Given the description of an element on the screen output the (x, y) to click on. 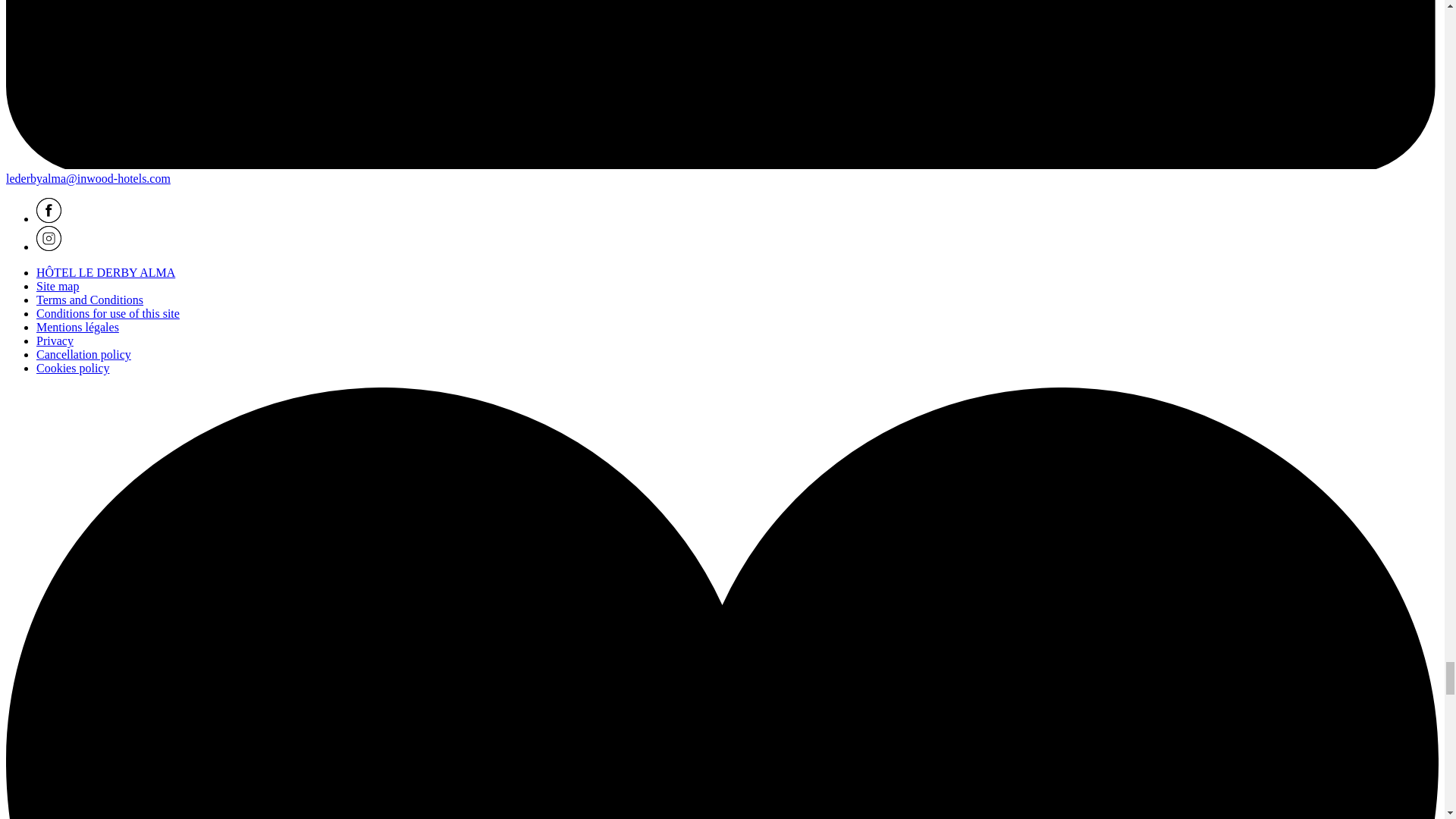
Site map (57, 286)
Terms and Conditions (89, 299)
Conditions for use of this site (107, 313)
